Given the description of an element on the screen output the (x, y) to click on. 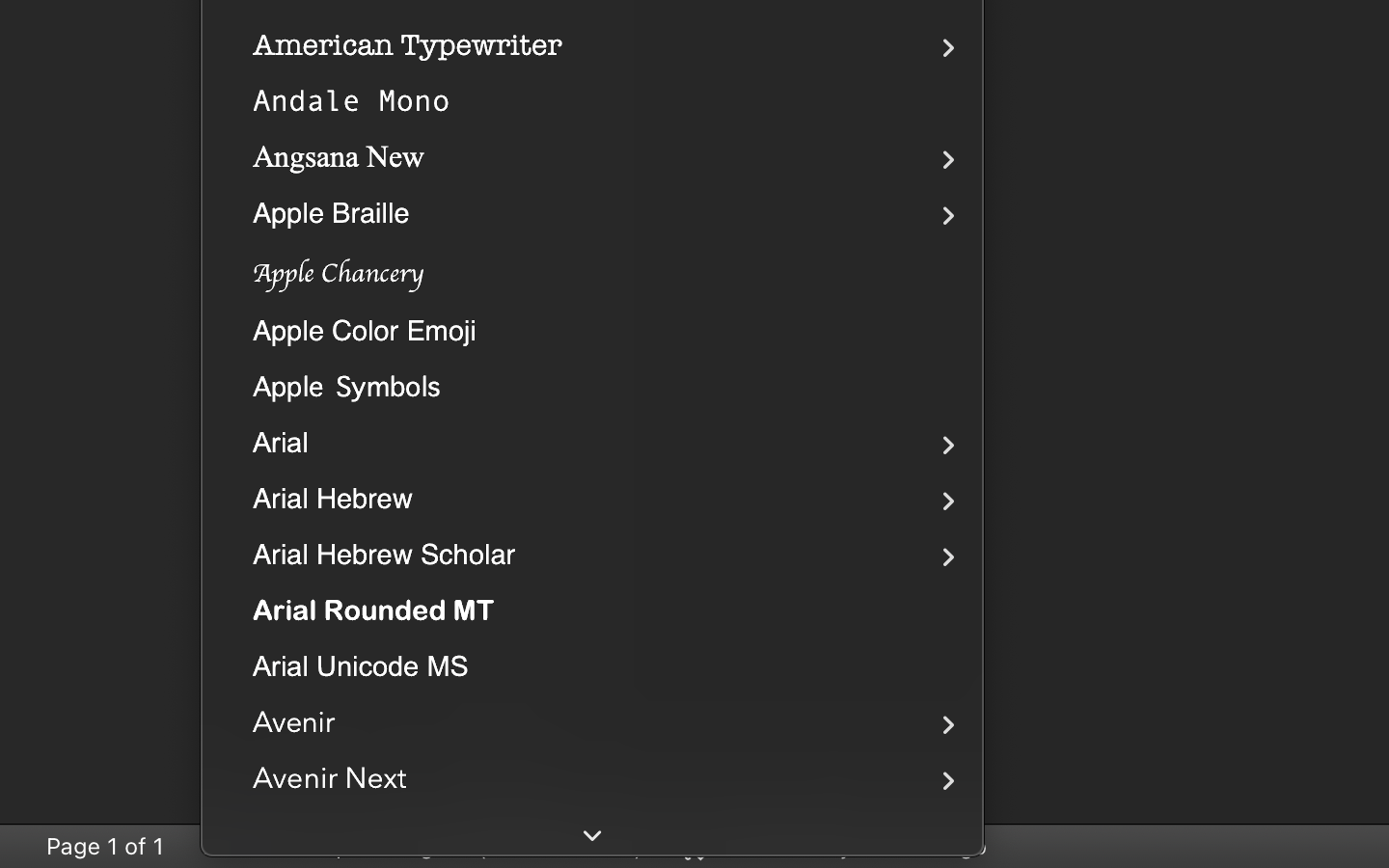
0 Element type: AXCheckBox (835, 845)
